Given the description of an element on the screen output the (x, y) to click on. 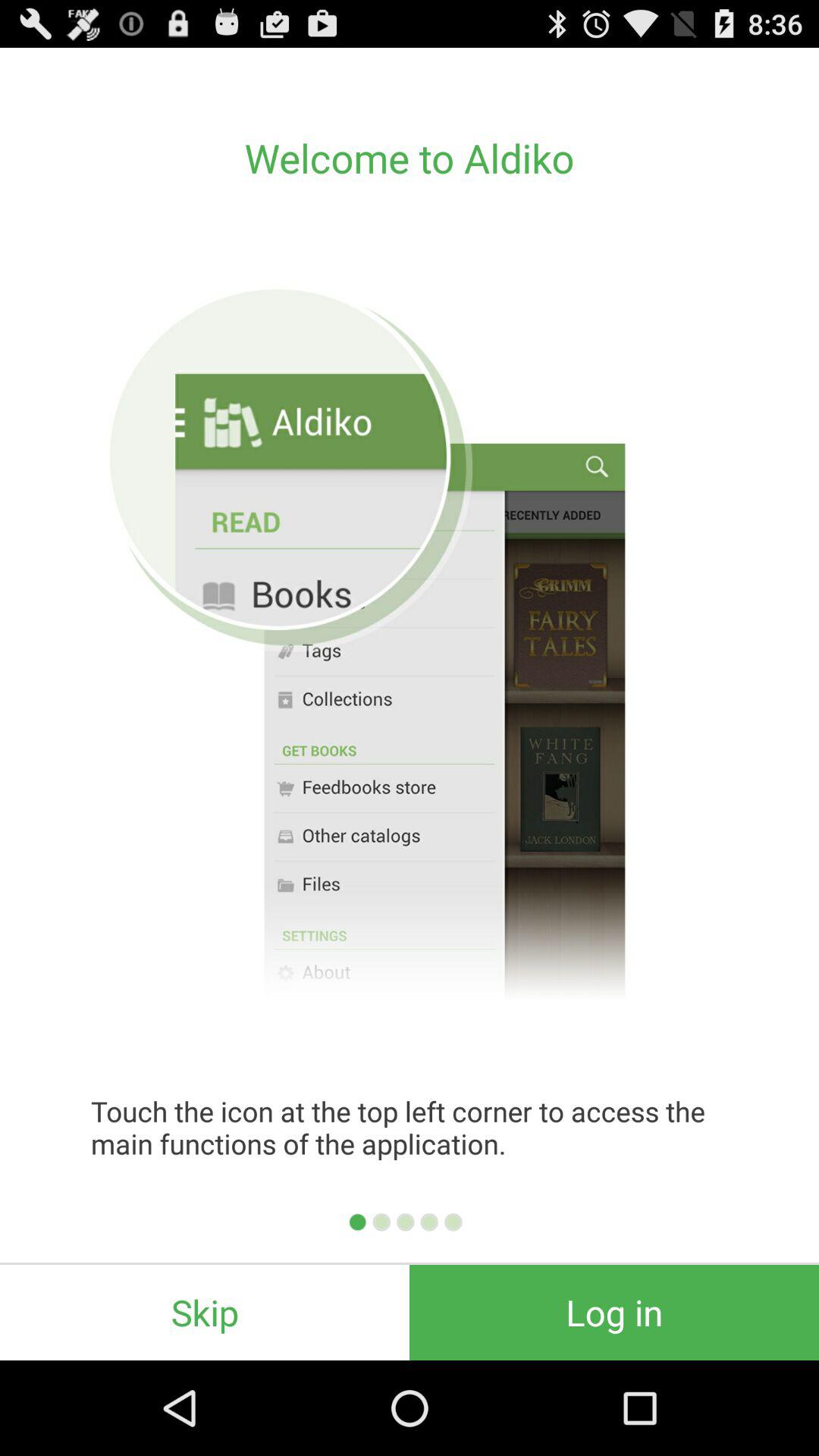
turn on the icon next to log in item (204, 1312)
